Given the description of an element on the screen output the (x, y) to click on. 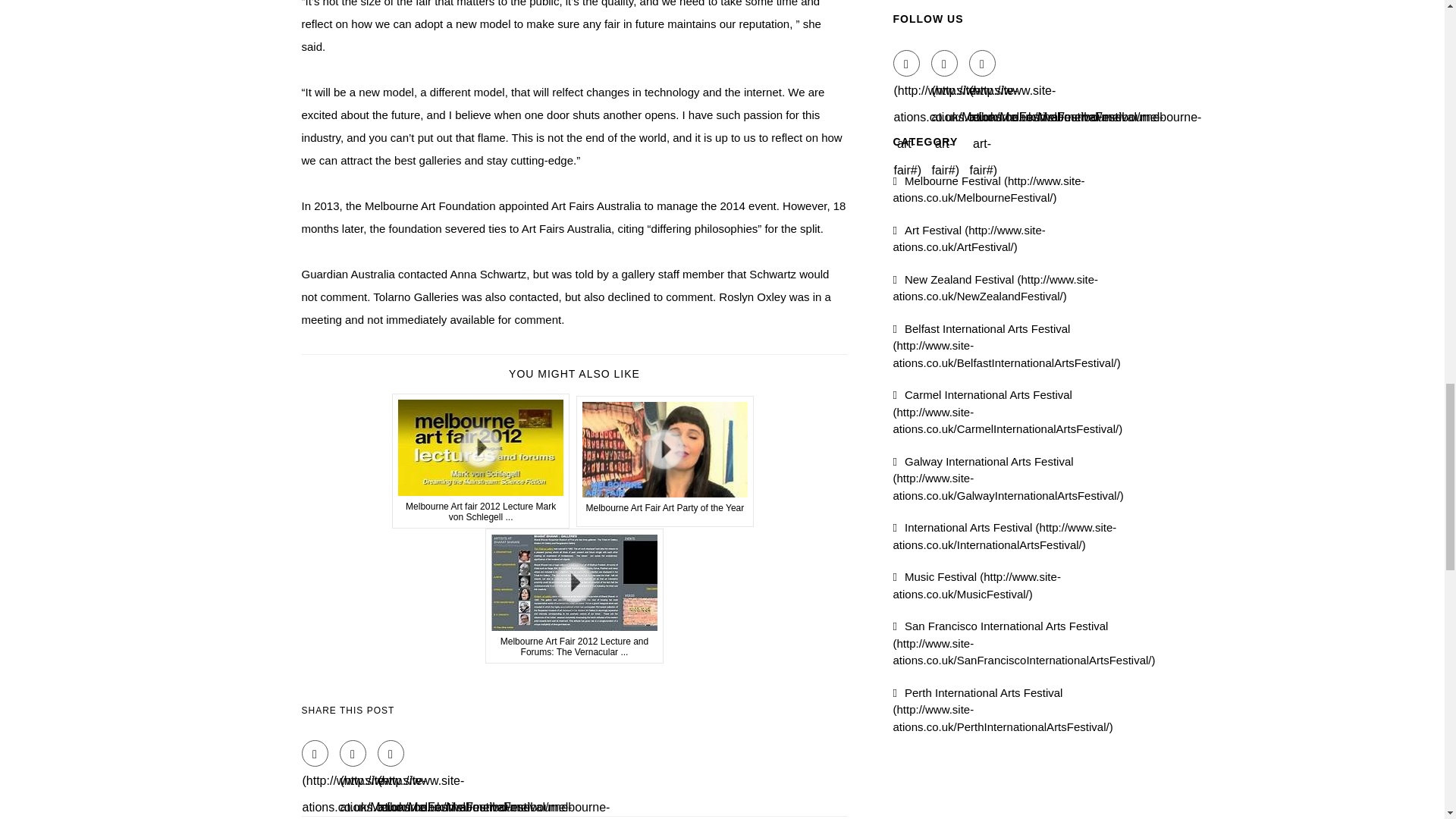
Google Plus (982, 62)
View all posts filed under Music Festival (977, 585)
Facebook (315, 753)
View this video from vimeo (573, 595)
View this video from Vimeo (665, 461)
View all posts filed under Melbourne Festival (988, 189)
Facebook (906, 62)
Twitter (352, 753)
